Given the description of an element on the screen output the (x, y) to click on. 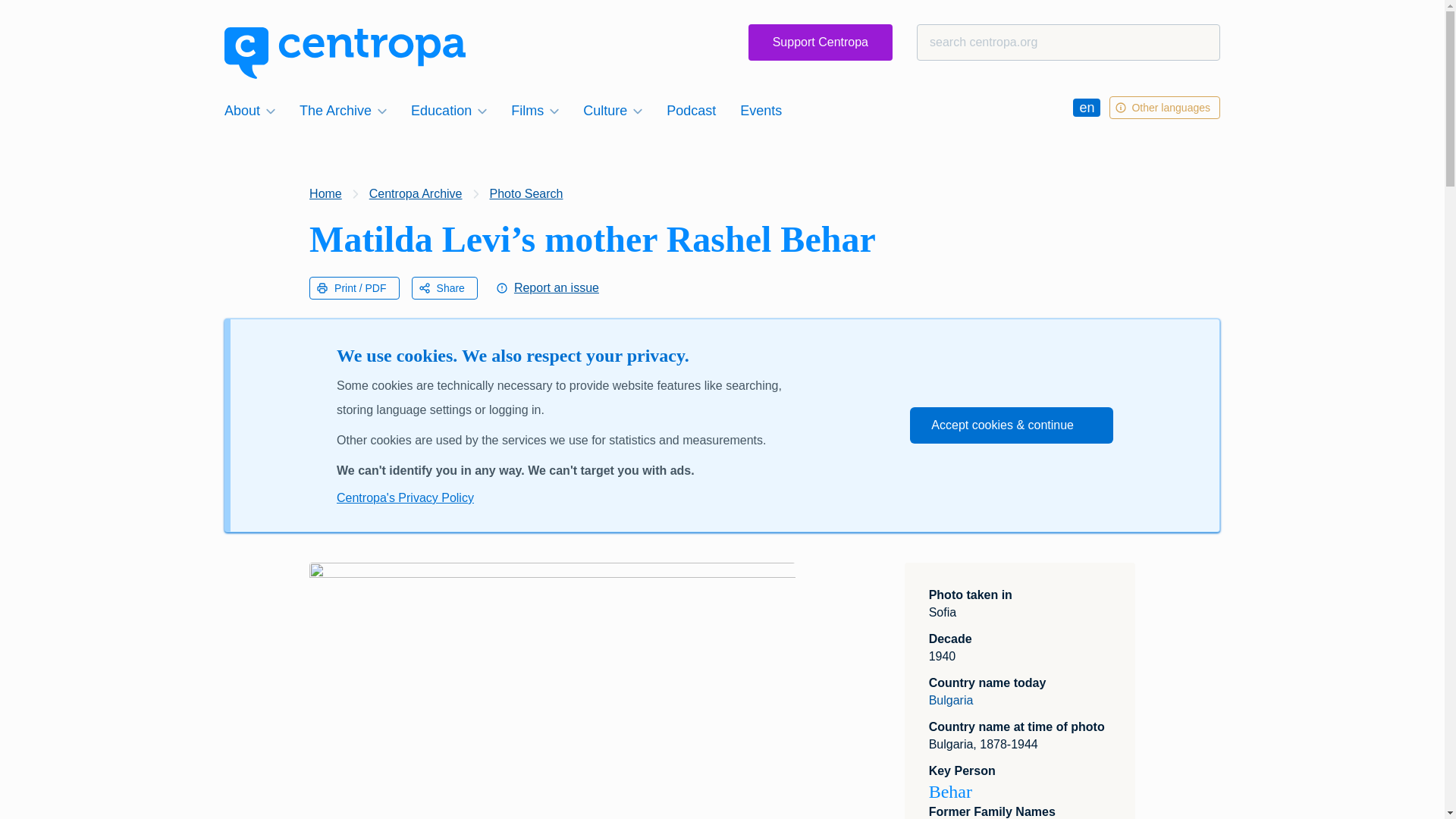
Education (448, 110)
Culture (611, 110)
Support Centropa (820, 42)
Support Centropa (820, 42)
Films (534, 110)
About (249, 110)
Search (40, 18)
Podcast (691, 110)
Events (760, 110)
